Given the description of an element on the screen output the (x, y) to click on. 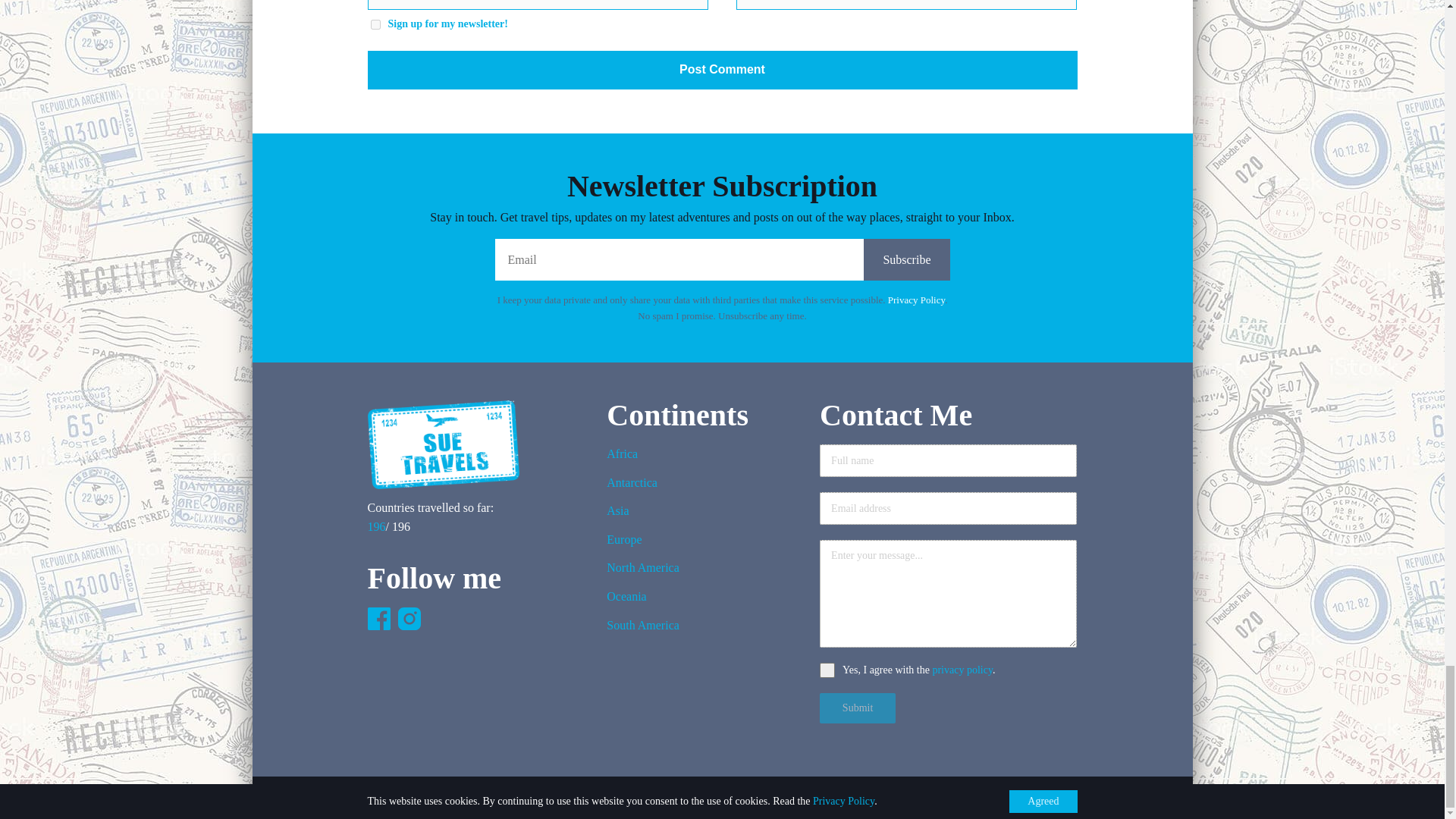
Post Comment (721, 69)
1 (374, 24)
Post Comment (721, 69)
Subscribe (906, 259)
Privacy Policy (916, 299)
Subscribe (906, 259)
